Given the description of an element on the screen output the (x, y) to click on. 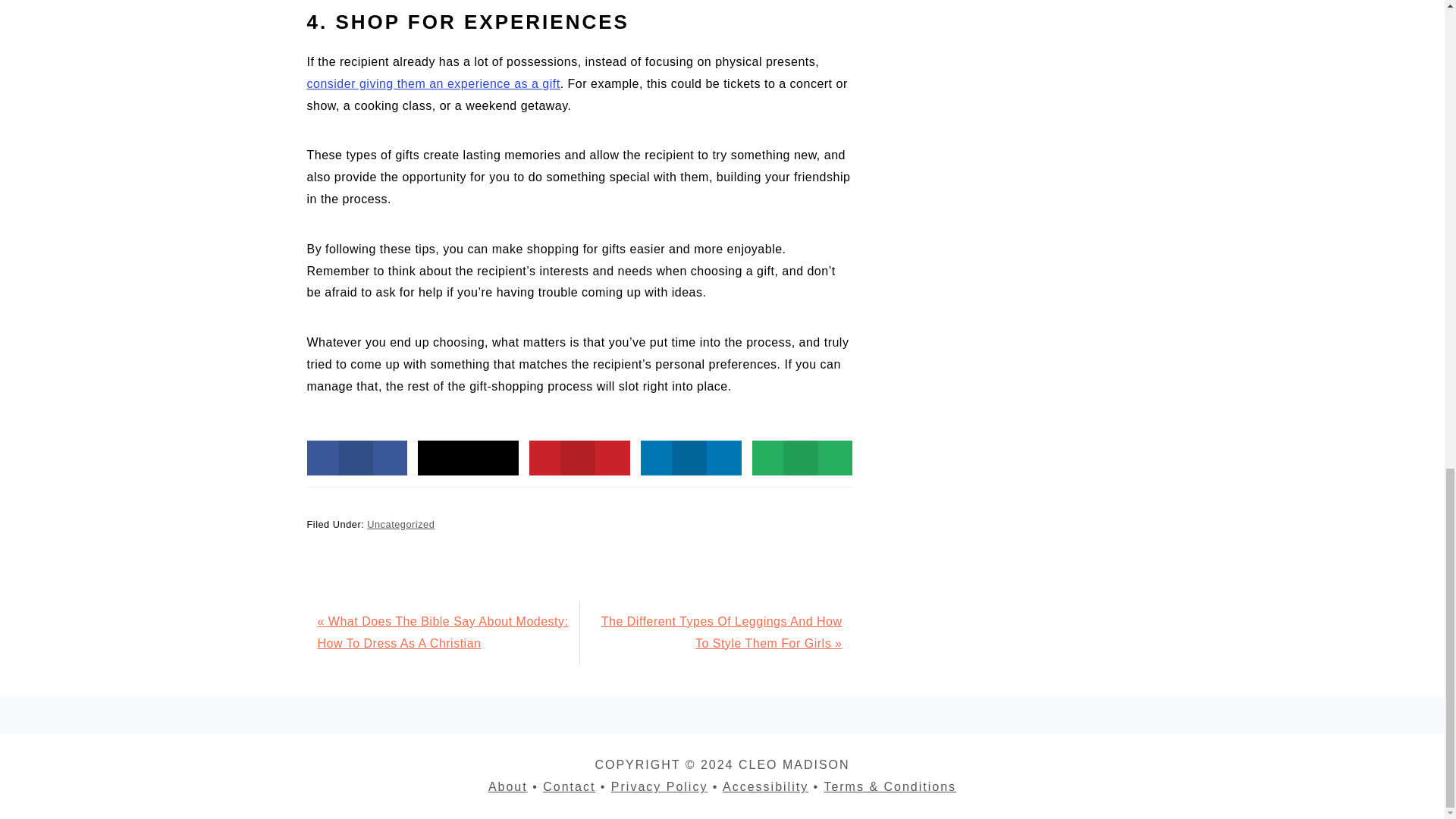
Save to Pinterest (578, 457)
consider giving them an experience as a gift (432, 83)
Send over email (801, 457)
Uncategorized (399, 523)
Contact (569, 786)
Share on LinkedIn (690, 457)
Share on Facebook (355, 457)
Privacy Policy (659, 786)
Share on X (467, 457)
Accessibility (765, 786)
About (507, 786)
